Given the description of an element on the screen output the (x, y) to click on. 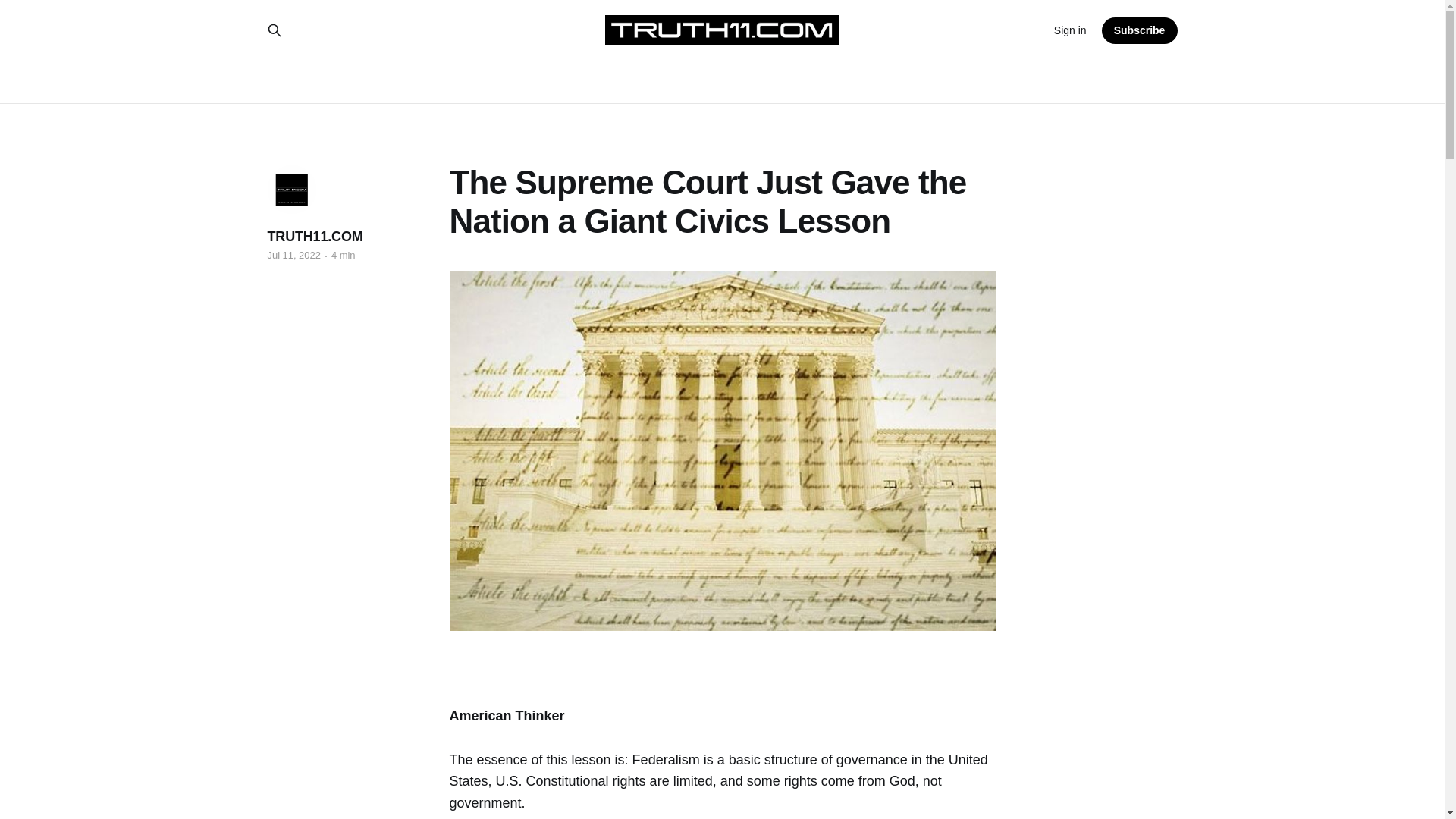
Sign in (1070, 30)
Subscribe (1139, 29)
TRUTH11.COM (314, 236)
